Given the description of an element on the screen output the (x, y) to click on. 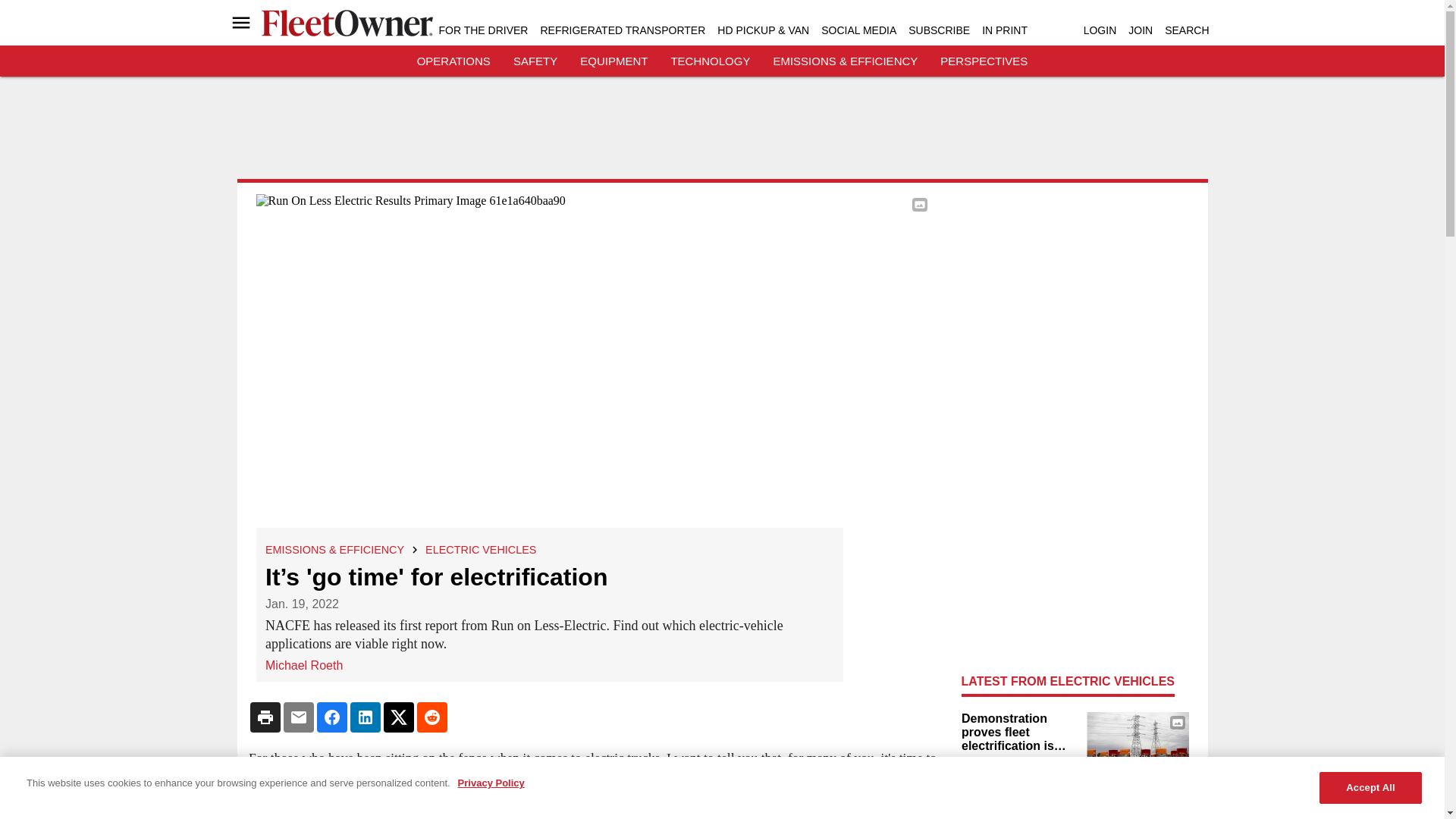
PERSPECTIVES (983, 60)
LOGIN (1099, 30)
REFRIGERATED TRANSPORTER (622, 30)
EQUIPMENT (613, 60)
SUBSCRIBE (938, 30)
3rd party ad content (722, 133)
JOIN (1140, 30)
TECHNOLOGY (709, 60)
SOCIAL MEDIA (858, 30)
FOR THE DRIVER (482, 30)
SEARCH (1186, 30)
SAFETY (535, 60)
IN PRINT (1004, 30)
OPERATIONS (453, 60)
